Given the description of an element on the screen output the (x, y) to click on. 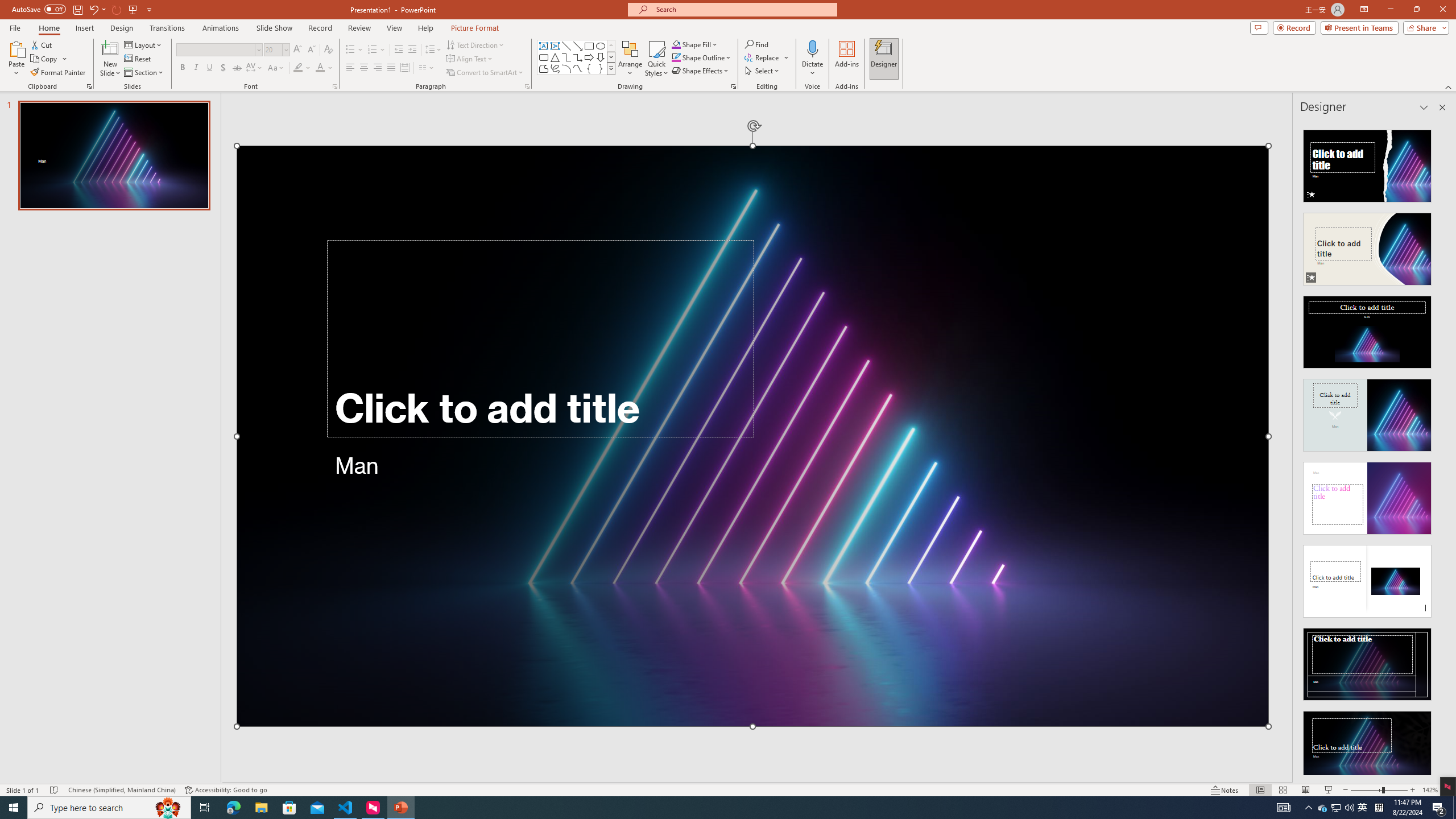
Picture Format (475, 28)
Class: NetUIScrollBar (1441, 447)
